Given the description of an element on the screen output the (x, y) to click on. 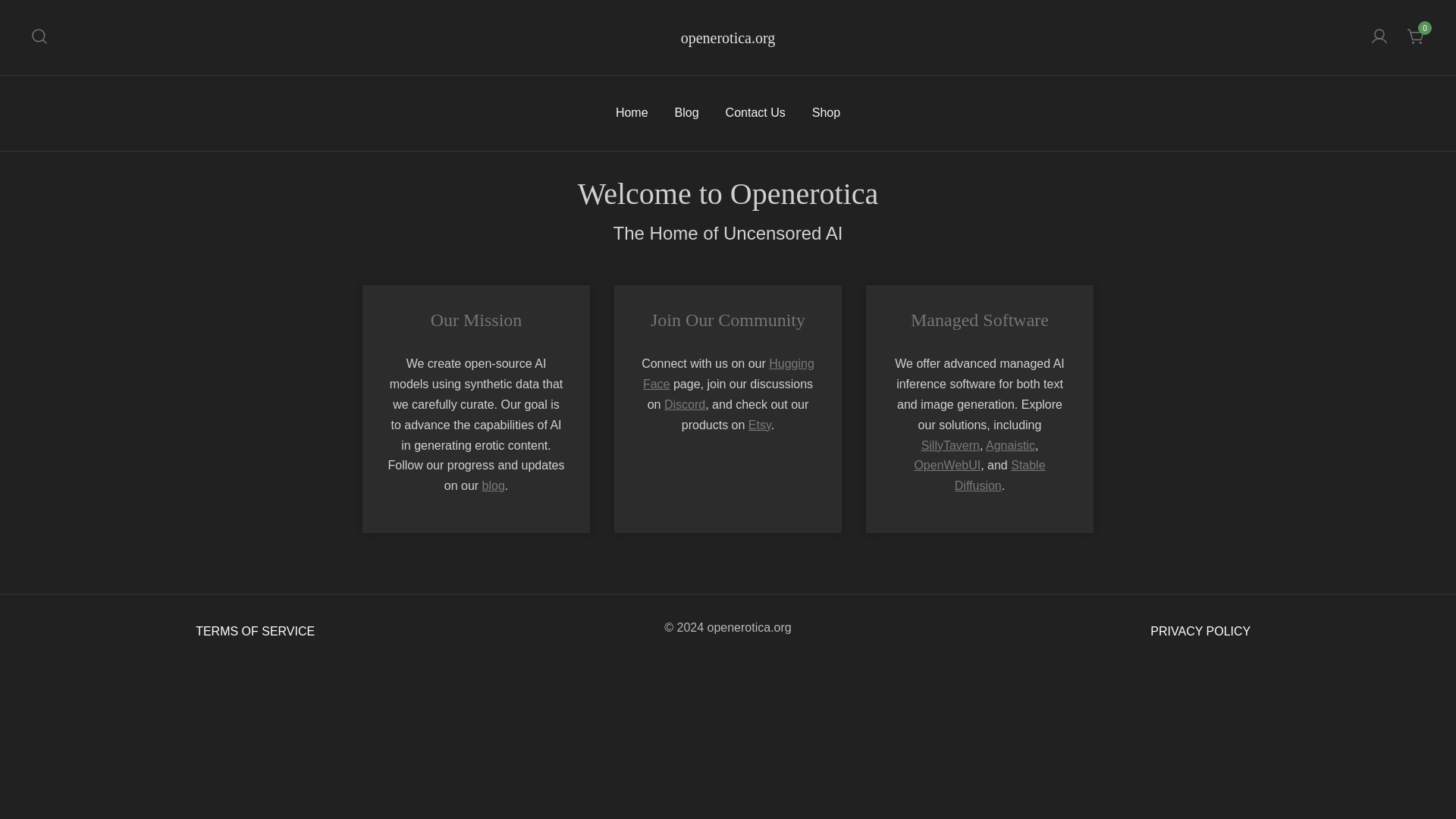
Agnaistic (1010, 445)
TERMS OF SERVICE (254, 632)
SillyTavern (950, 445)
OpenWebUI (946, 464)
openerotica.org (728, 36)
Hugging Face (728, 373)
Discord (683, 404)
Contact Us (755, 113)
blog (493, 485)
View your shopping cart (1416, 36)
